Given the description of an element on the screen output the (x, y) to click on. 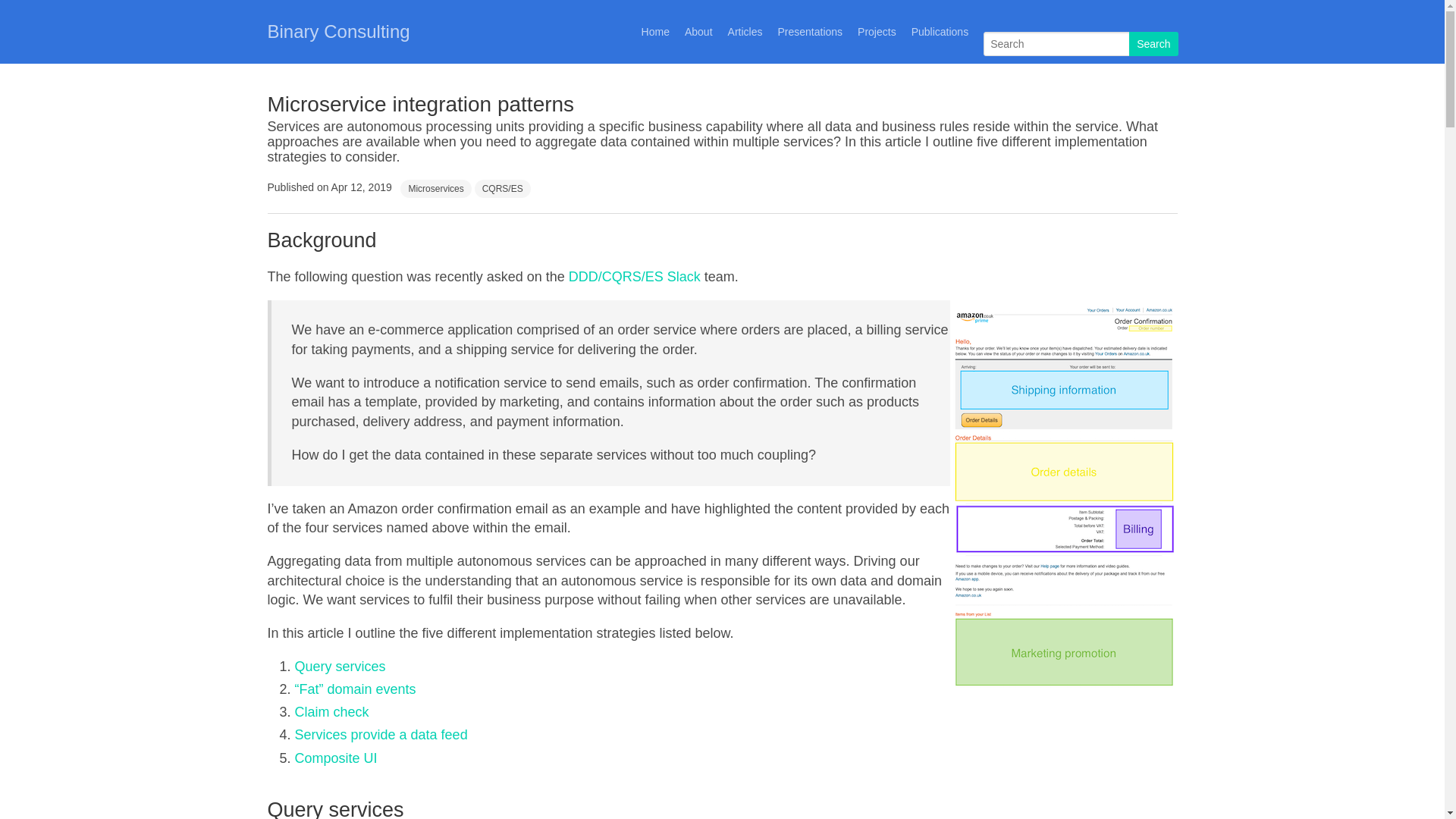
Claim check Element type: text (331, 711)
Amazon email Element type: hover (1062, 495)
Articles Element type: text (745, 31)
DDD/CQRS/ES Slack Element type: text (634, 276)
Projects Element type: text (876, 31)
About Element type: text (698, 31)
Search Element type: text (1153, 43)
Publications Element type: text (939, 31)
Query services Element type: text (339, 666)
Composite UI Element type: text (335, 757)
Services provide a data feed Element type: text (380, 734)
Home Element type: text (655, 31)
Binary Consulting Element type: text (337, 31)
Presentations Element type: text (809, 31)
